Given the description of an element on the screen output the (x, y) to click on. 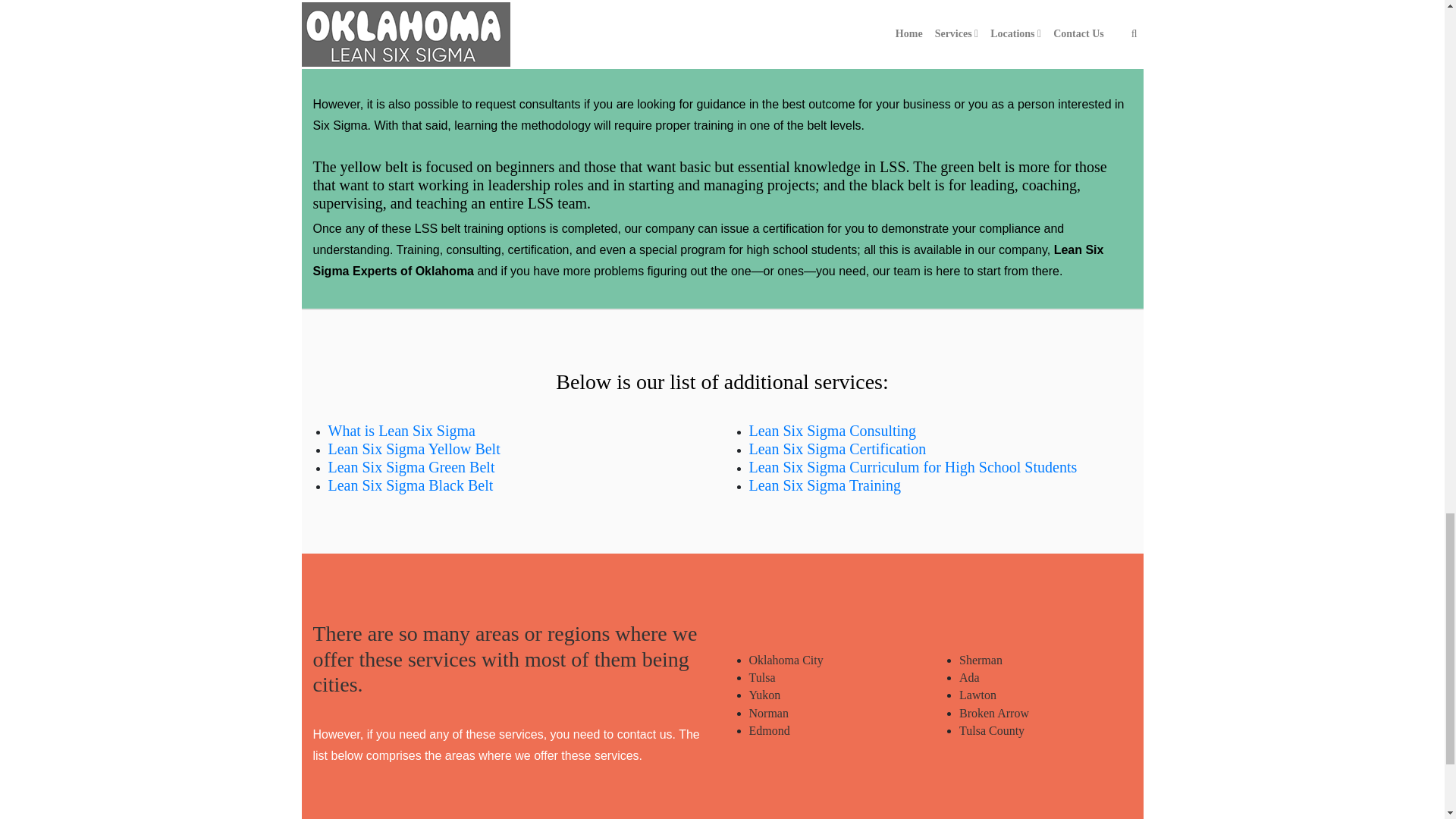
Lean Six Sigma Black Belt (410, 484)
Lean Six Sigma Green Belt (411, 466)
Lean Six Sigma Curriculum for High School Students (913, 466)
Lean Six Sigma Yellow Belt (413, 448)
Lean Six Sigma Training (825, 484)
Oklahoma City (786, 659)
Lean Six Sigma Certification (837, 448)
Lean Six Sigma Consulting (833, 430)
What is Lean Six Sigma (400, 430)
